Given the description of an element on the screen output the (x, y) to click on. 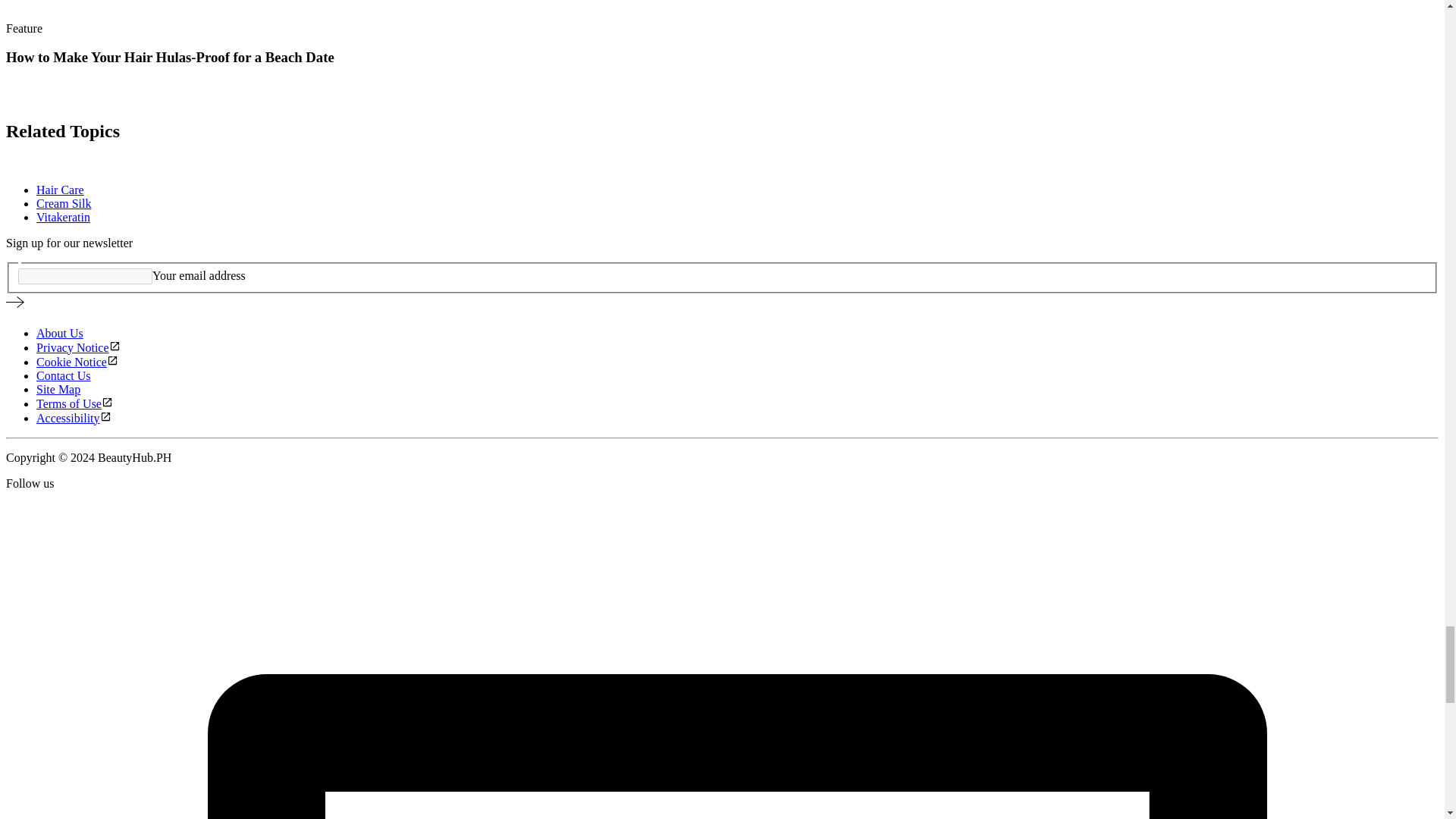
Accessibility - Link opens in a new window (74, 418)
Click to see Article details (25, 98)
Privacy Notice - Link opens in a new window (78, 347)
Cookie Notice - Link opens in a new window (76, 361)
Terms of Use - Link opens in a new window (74, 403)
